Given the description of an element on the screen output the (x, y) to click on. 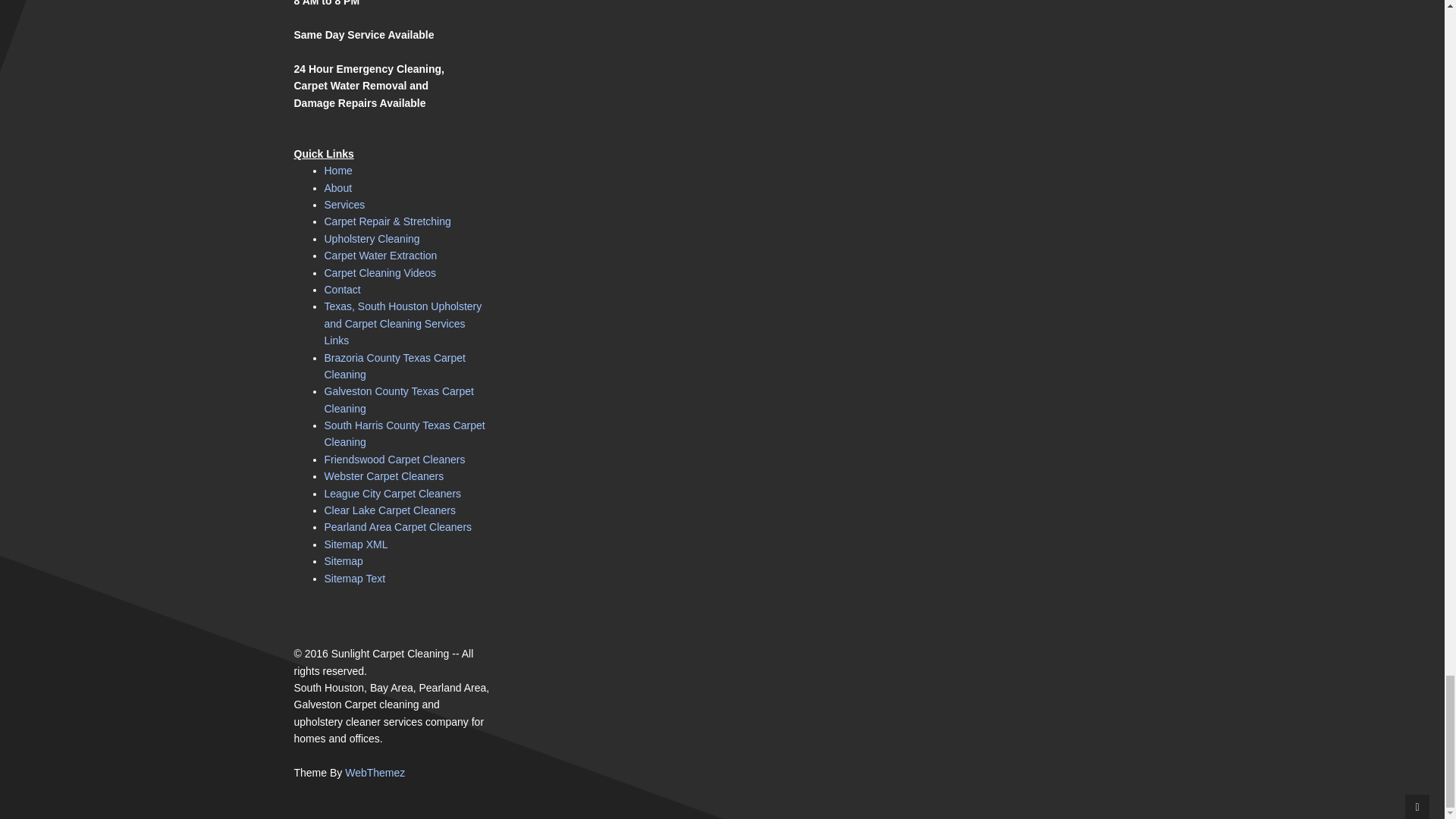
Contact (342, 289)
Webster Carpet Cleaners (384, 476)
Services (344, 204)
League City Carpet Cleaners (392, 493)
Friendswood Carpet Cleaners (394, 459)
Carpet Water Extraction (381, 255)
Galveston County Texas Carpet Cleaning (399, 399)
About (338, 187)
South Harris County Texas Carpet Cleaning (404, 433)
